Given the description of an element on the screen output the (x, y) to click on. 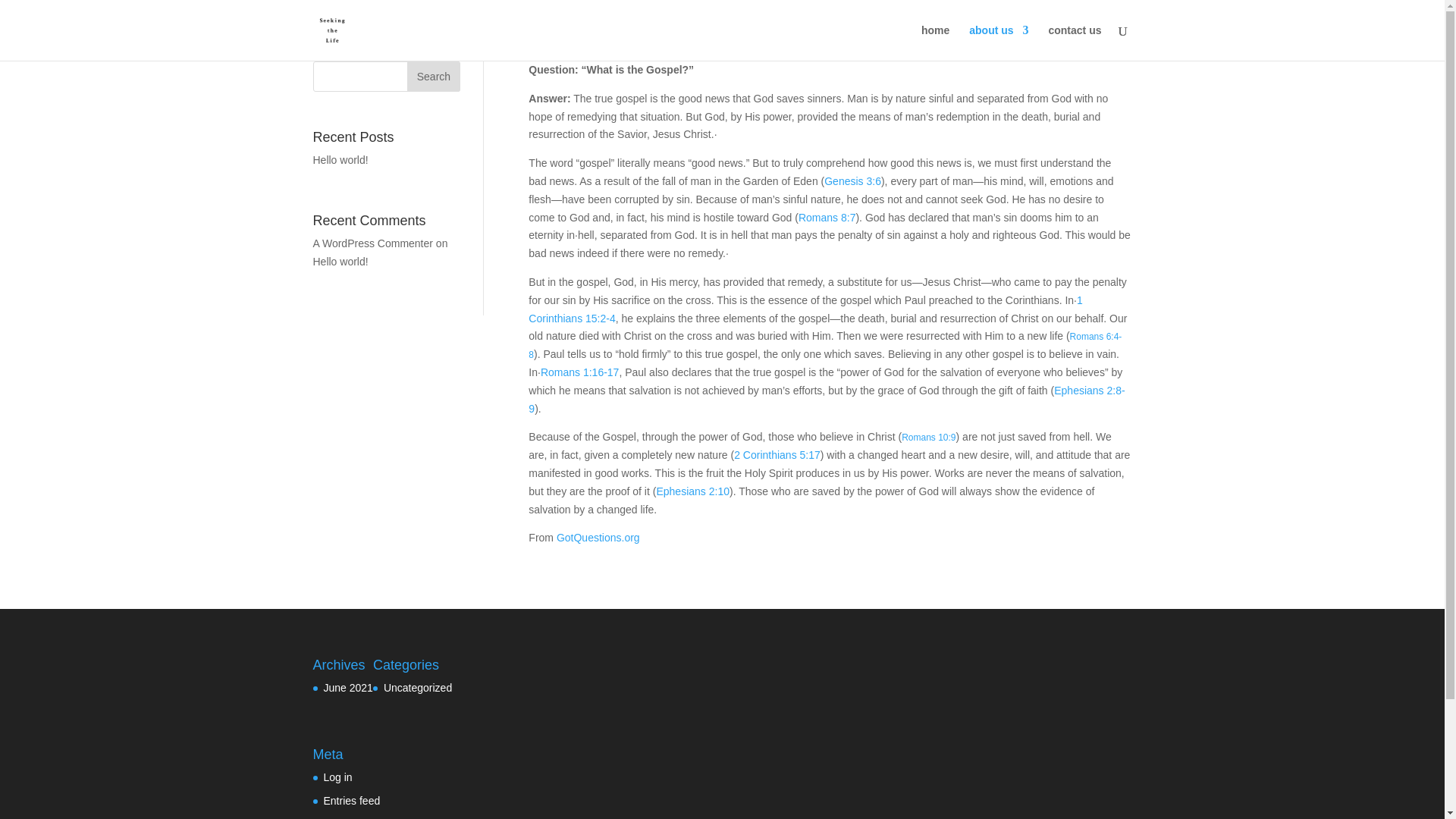
GotQuestions.org (598, 537)
Hello world! (340, 159)
Uncategorized (417, 687)
about us (998, 42)
June 2021 (347, 687)
Ephesians 2:10 (692, 491)
1 Corinthians 15:2-4 (804, 309)
Hello world! (340, 261)
Entries feed (351, 800)
Search (433, 76)
2 Corinthians 5:17 (777, 454)
Romans 10:9 (928, 437)
Search (433, 76)
Romans 6:4-8 (824, 345)
